Given the description of an element on the screen output the (x, y) to click on. 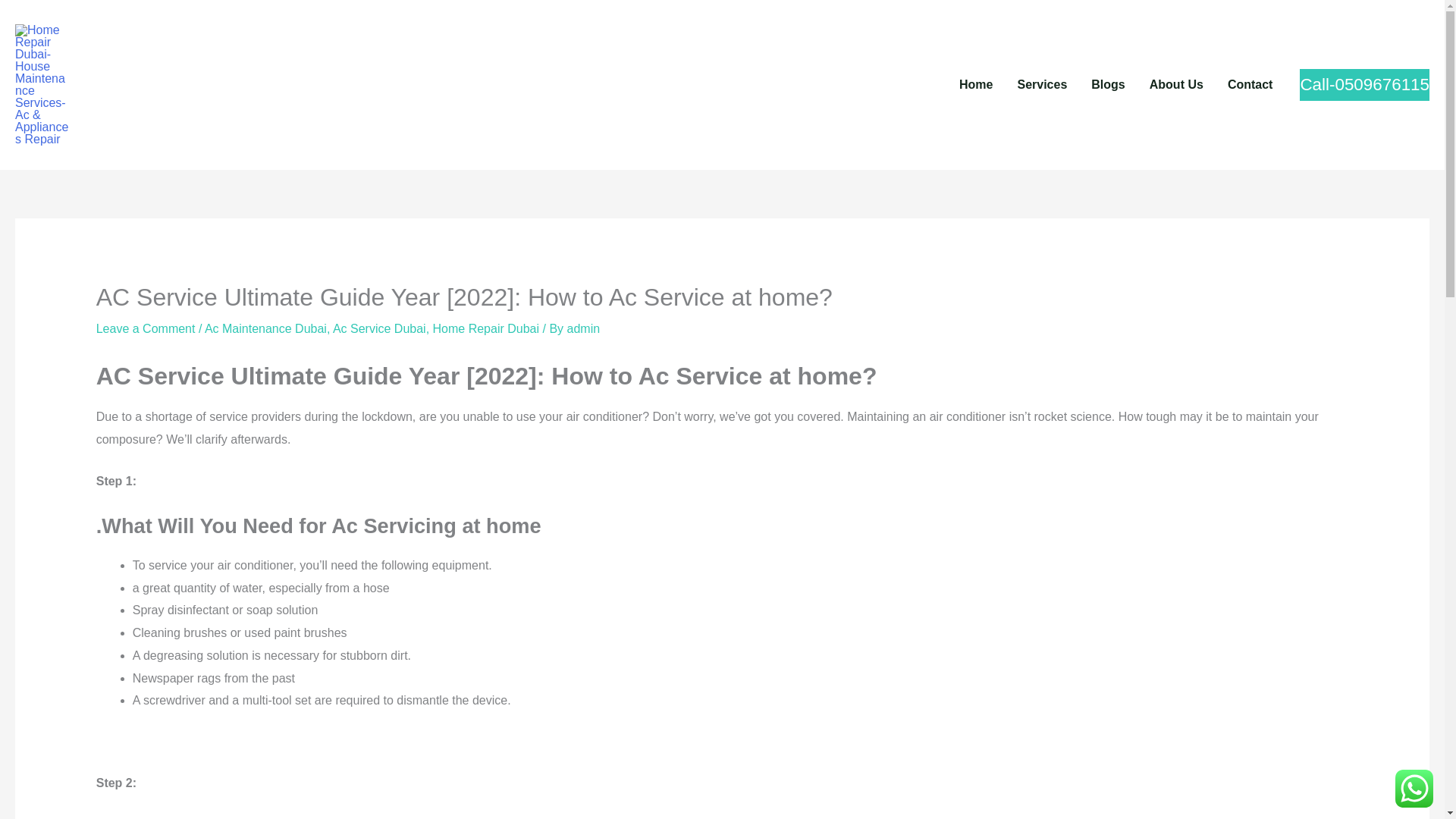
Call-0509676115 (1364, 84)
View all posts by admin (583, 328)
Ac Service Dubai (379, 328)
Home Repair Dubai (486, 328)
admin (583, 328)
About Us (1176, 84)
Leave a Comment (145, 328)
Blogs (1107, 84)
Home (975, 84)
Contact (1250, 84)
